Given the description of an element on the screen output the (x, y) to click on. 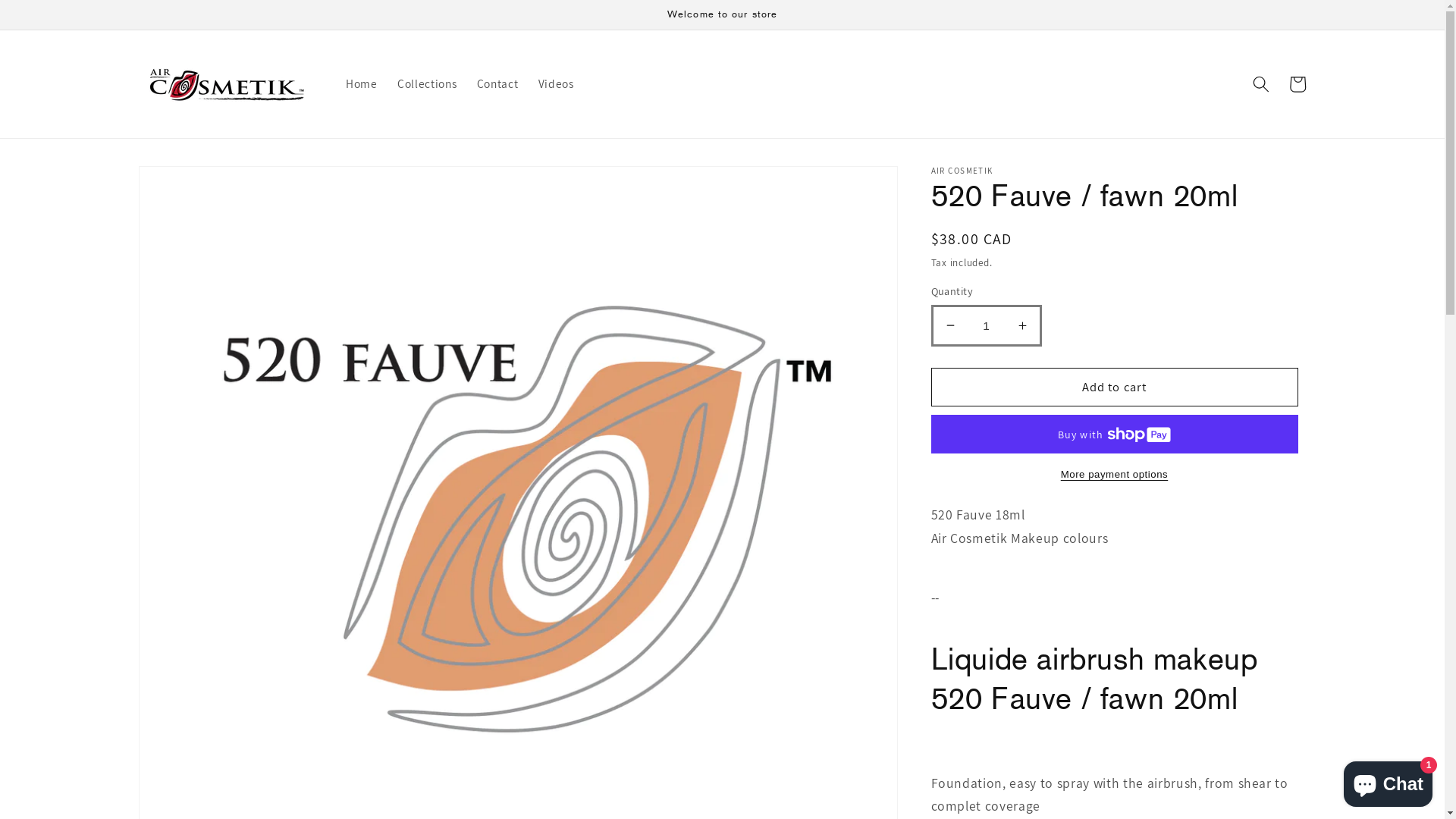
More payment options Element type: text (1114, 474)
Increase quantity for 520 Fauve / fawn 20ml Element type: text (1022, 325)
Skip to product information Element type: text (188, 184)
Collections Element type: text (427, 83)
Home Element type: text (361, 83)
Add to cart Element type: text (1114, 387)
Cart Element type: text (1297, 83)
Shopify online store chat Element type: hover (1388, 780)
Contact Element type: text (496, 83)
Decrease quantity for 520 Fauve / fawn 20ml Element type: text (949, 325)
Videos Element type: text (555, 83)
